Given the description of an element on the screen output the (x, y) to click on. 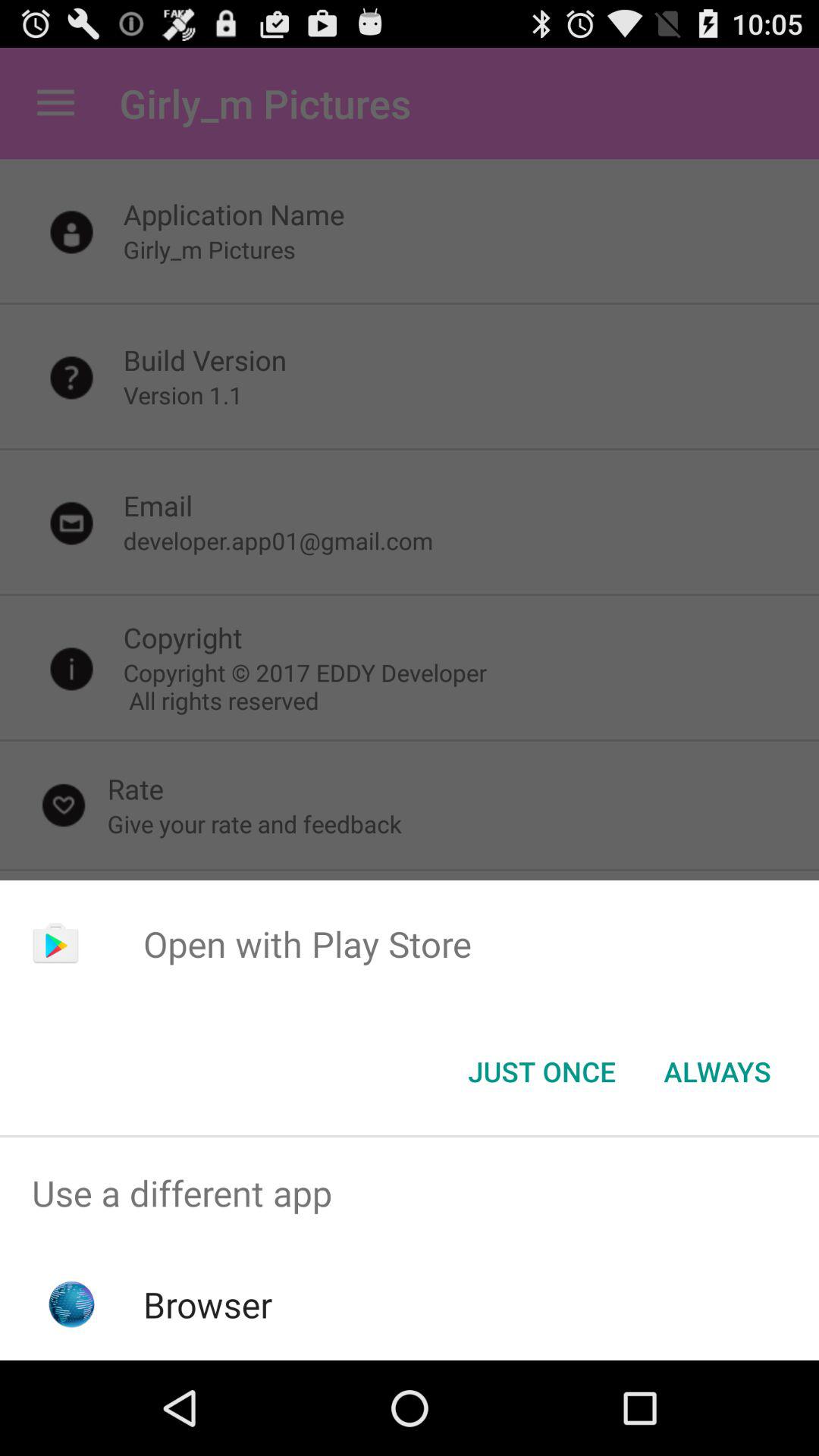
jump to the just once button (541, 1071)
